Given the description of an element on the screen output the (x, y) to click on. 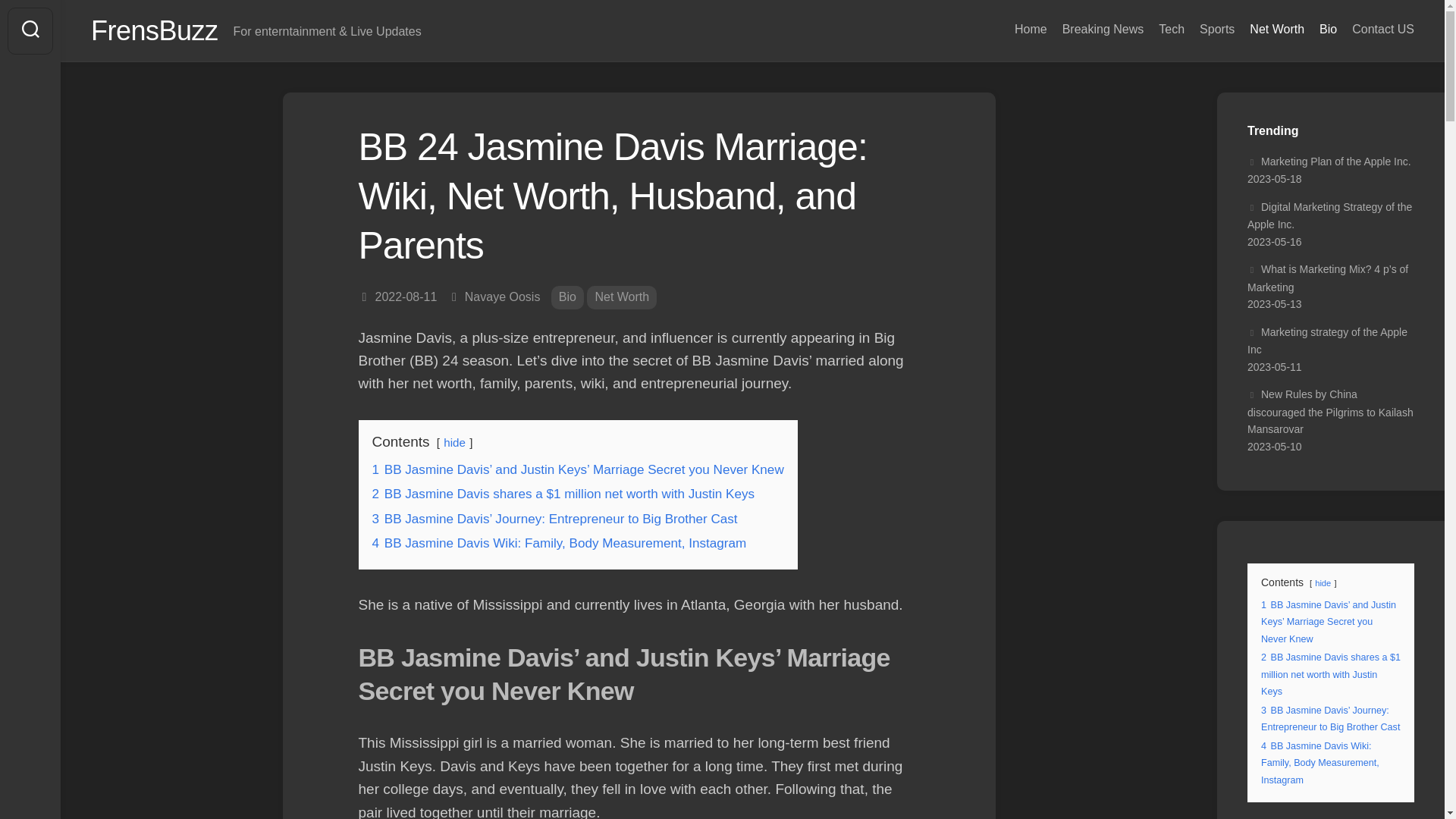
Tech (1171, 29)
4 BB Jasmine Davis Wiki: Family, Body Measurement, Instagram (558, 543)
Breaking News (1103, 29)
Contact US (1382, 29)
Navaye Oosis (502, 296)
Sports (1216, 29)
Net Worth (621, 297)
Bio (1327, 29)
Bio (567, 297)
FrensBuzz (154, 31)
Posts by Navaye Oosis (502, 296)
Net Worth (1276, 29)
Home (1030, 29)
hide (454, 441)
